Given the description of an element on the screen output the (x, y) to click on. 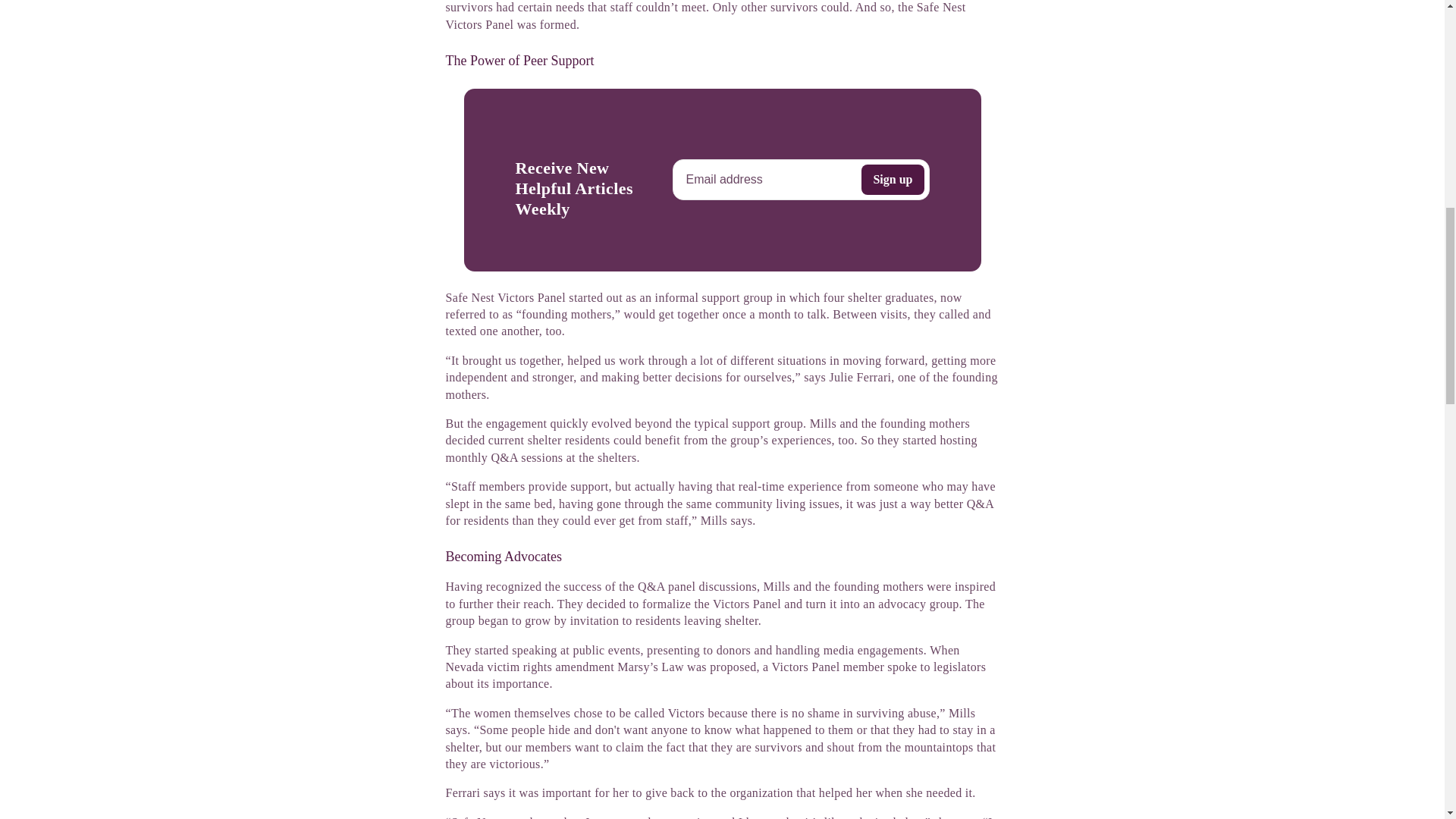
Sign up (892, 179)
